Given the description of an element on the screen output the (x, y) to click on. 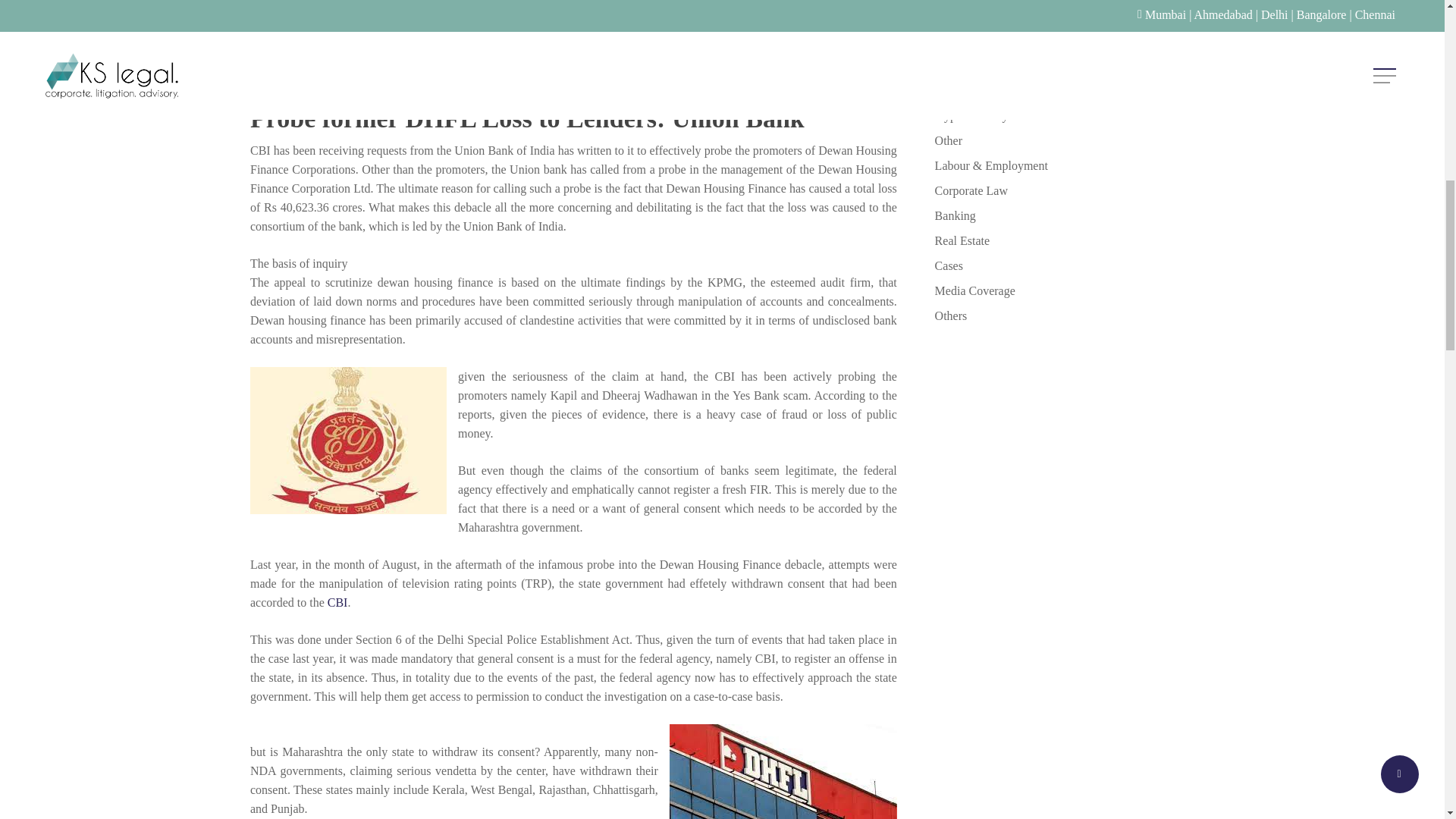
Economy (1063, 15)
cryptocurrency (1063, 115)
UBI (1063, 65)
CBI (337, 602)
Corporate Law (1063, 189)
Cases (1063, 265)
Media Coverage (1063, 290)
Banking (1063, 215)
Others (1063, 315)
arbitrator (1063, 40)
tax (1063, 90)
Real Estate (1063, 240)
Other (1063, 140)
